Given the description of an element on the screen output the (x, y) to click on. 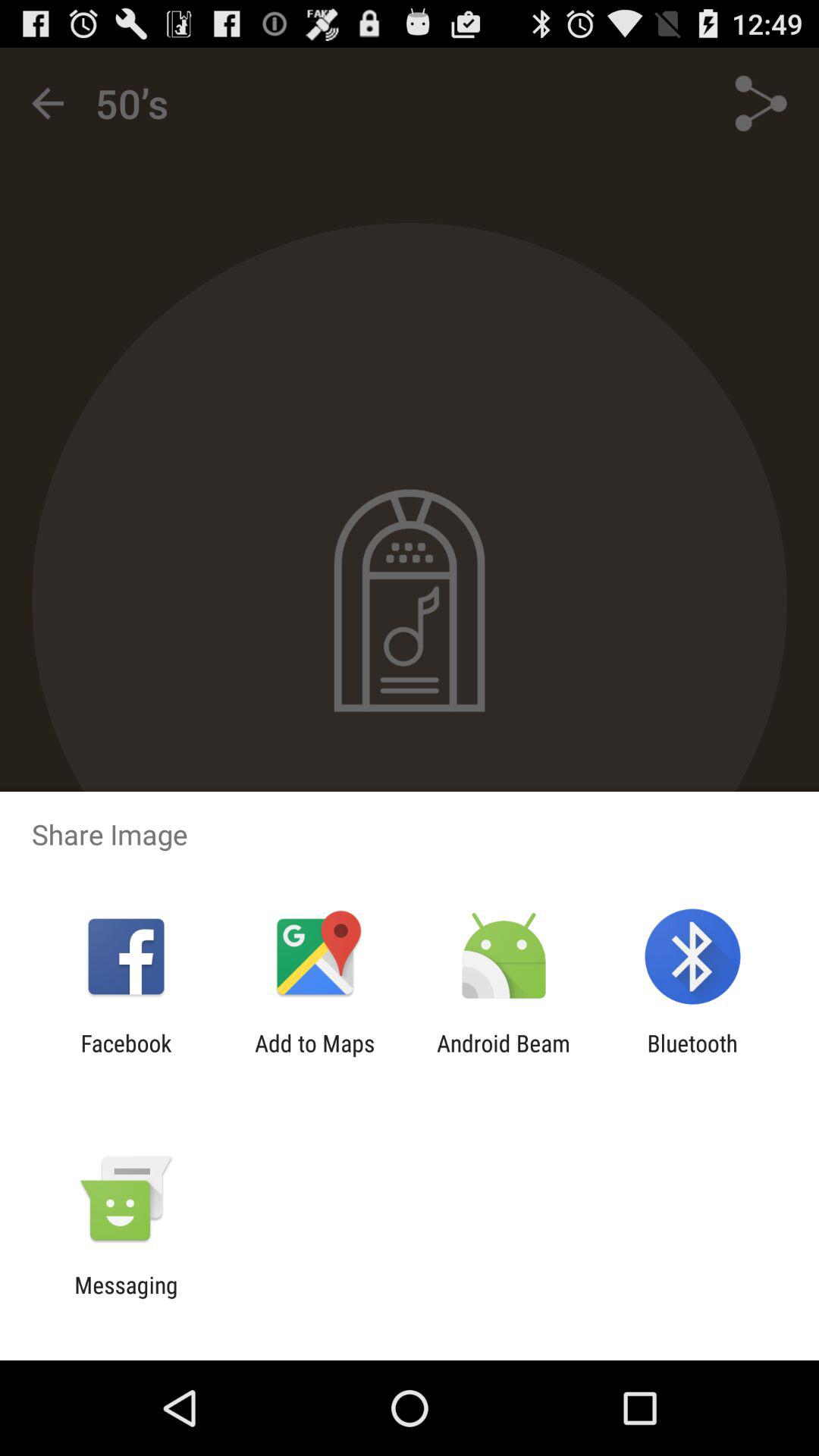
scroll to the facebook item (125, 1056)
